Given the description of an element on the screen output the (x, y) to click on. 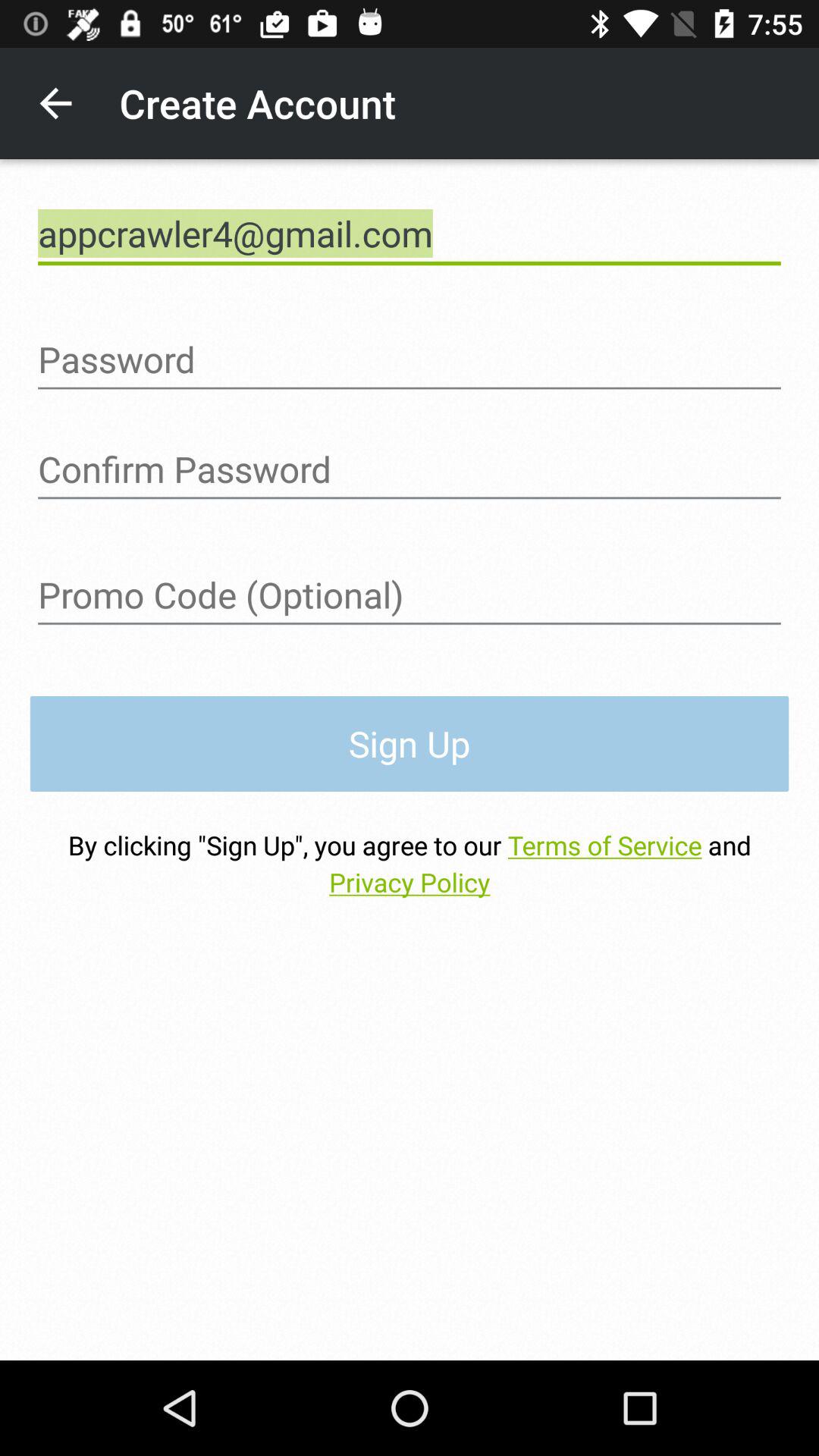
enter password field (409, 469)
